Given the description of an element on the screen output the (x, y) to click on. 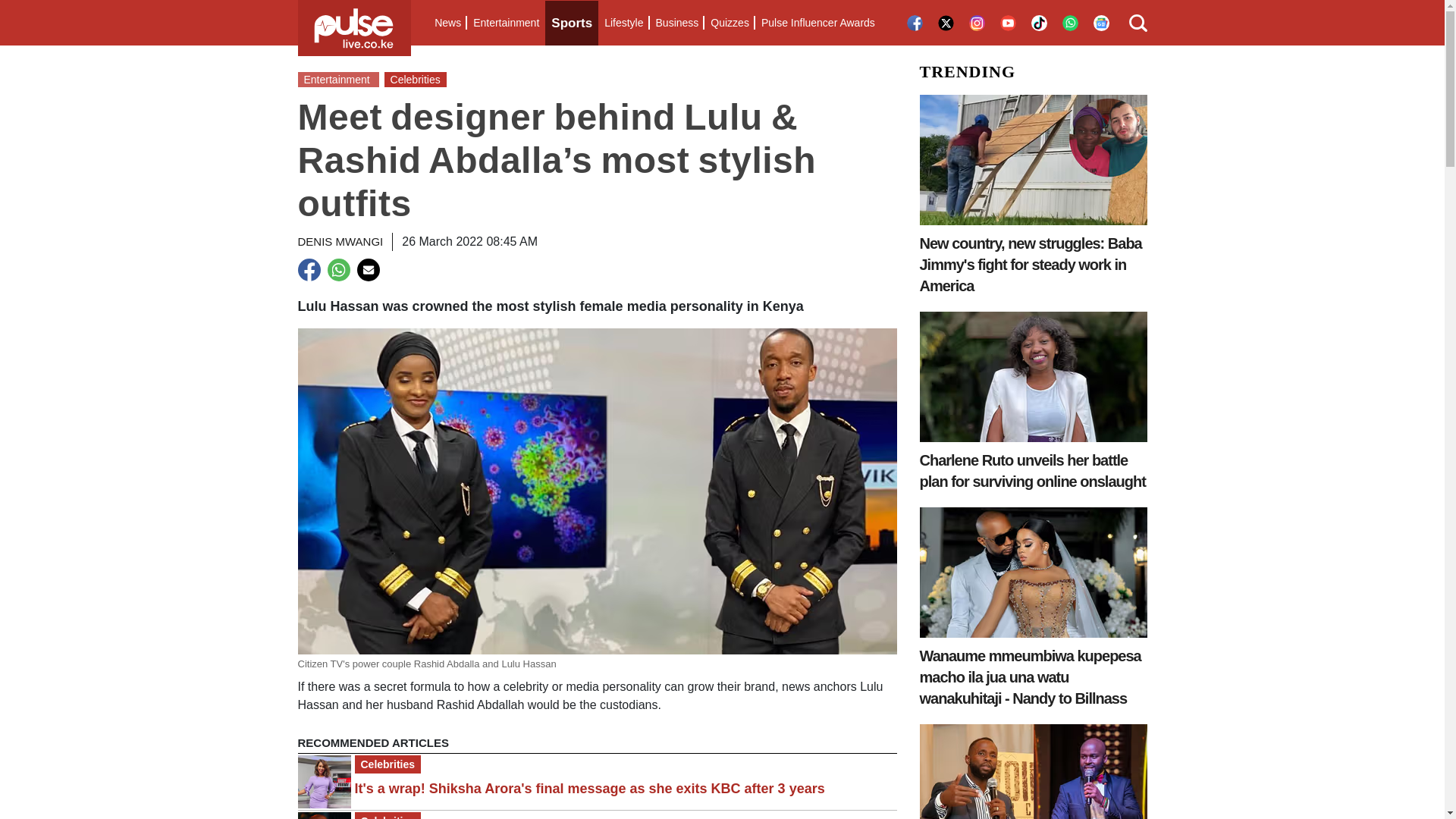
Entertainment (505, 22)
Pulse Influencer Awards (817, 22)
Quizzes (729, 22)
Sports (571, 22)
Business (676, 22)
Lifestyle (623, 22)
